Given the description of an element on the screen output the (x, y) to click on. 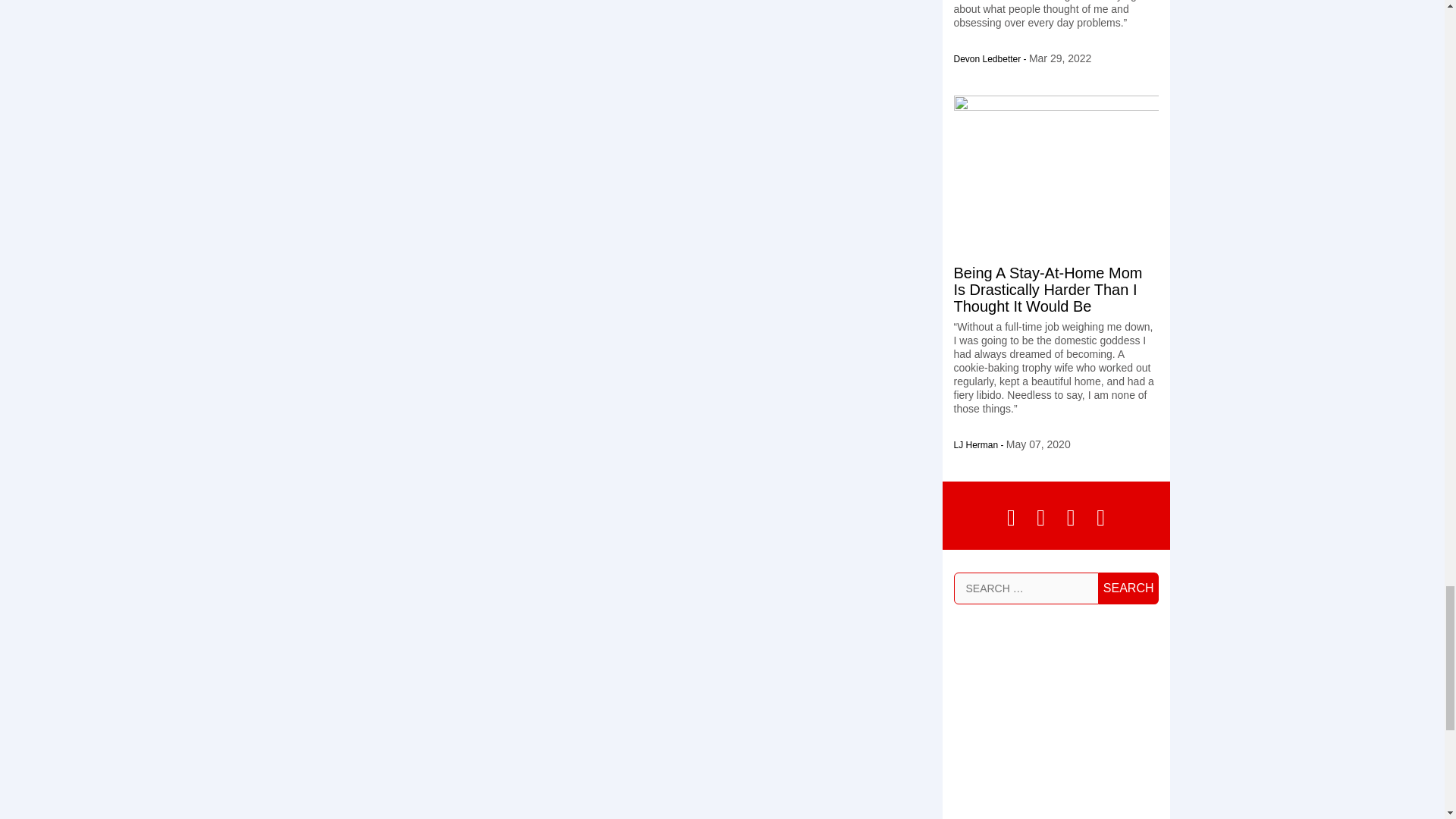
Search (1128, 587)
Search (1128, 587)
May 7, 2020 (1038, 444)
March 29, 2022 (1060, 58)
